Given the description of an element on the screen output the (x, y) to click on. 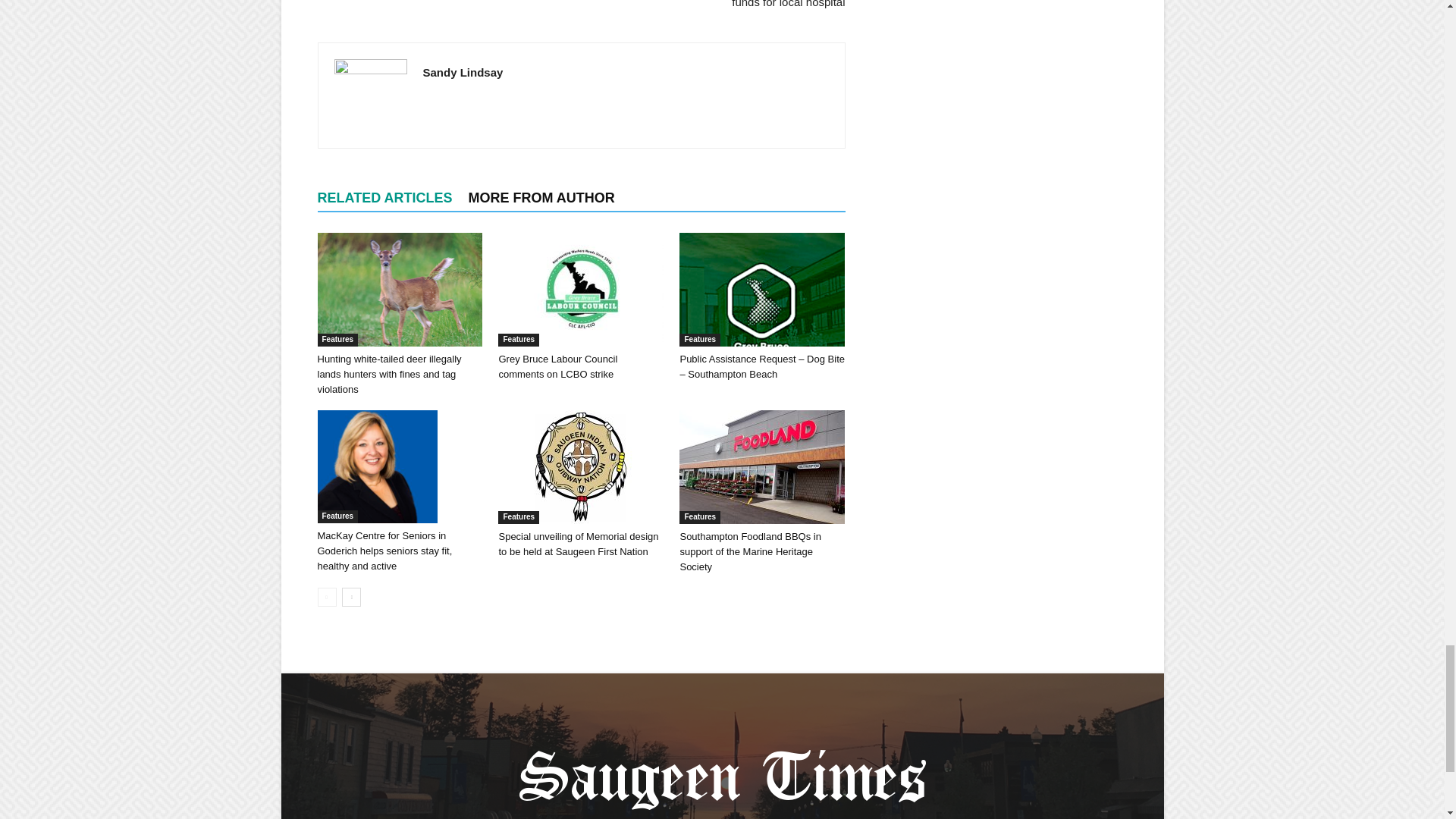
Grey Bruce Labour Council comments on LCBO strike (580, 289)
Grey Bruce Labour Council comments on LCBO strike (557, 366)
